Given the description of an element on the screen output the (x, y) to click on. 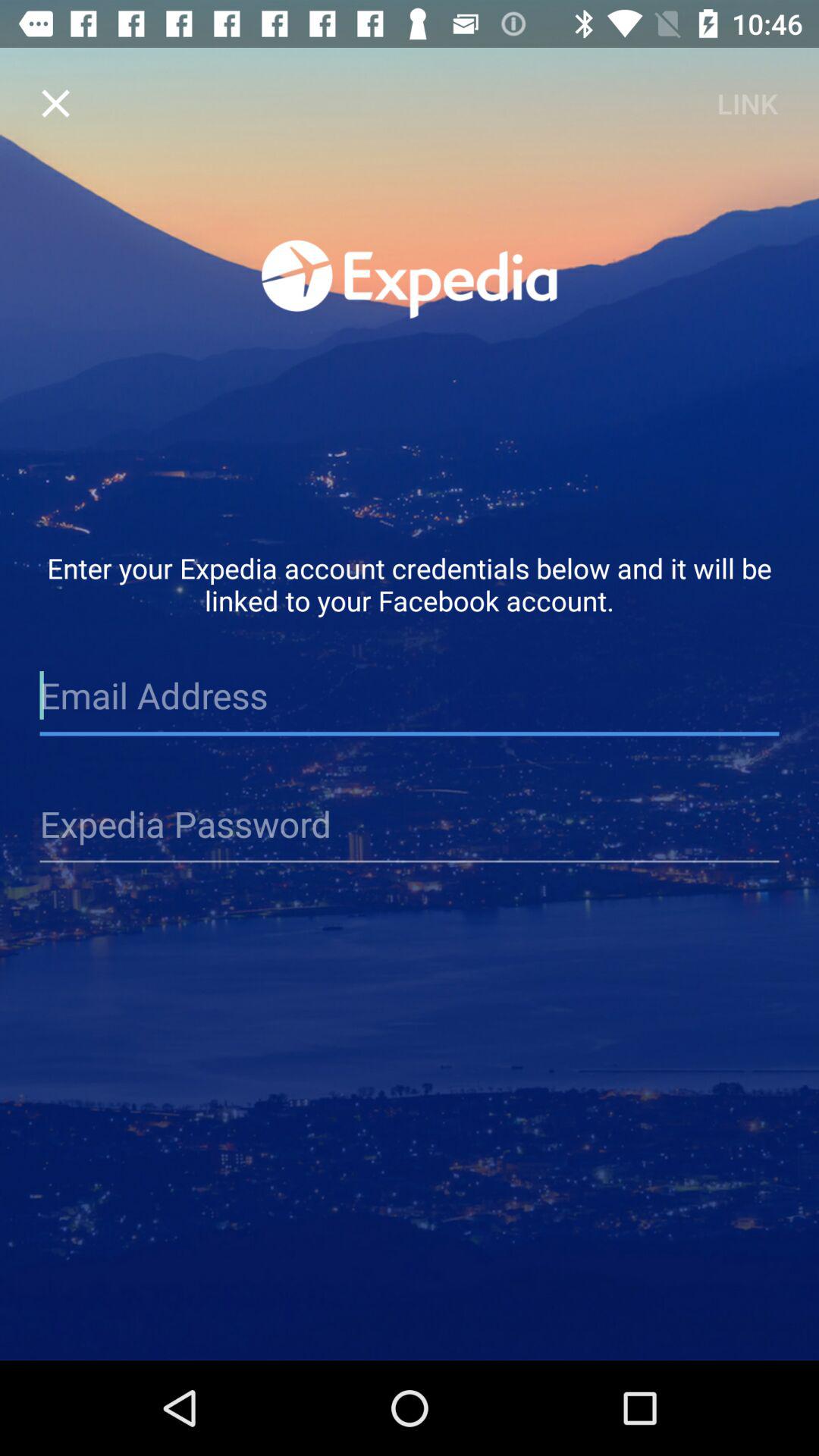
press the icon above the enter your expedia item (747, 103)
